Given the description of an element on the screen output the (x, y) to click on. 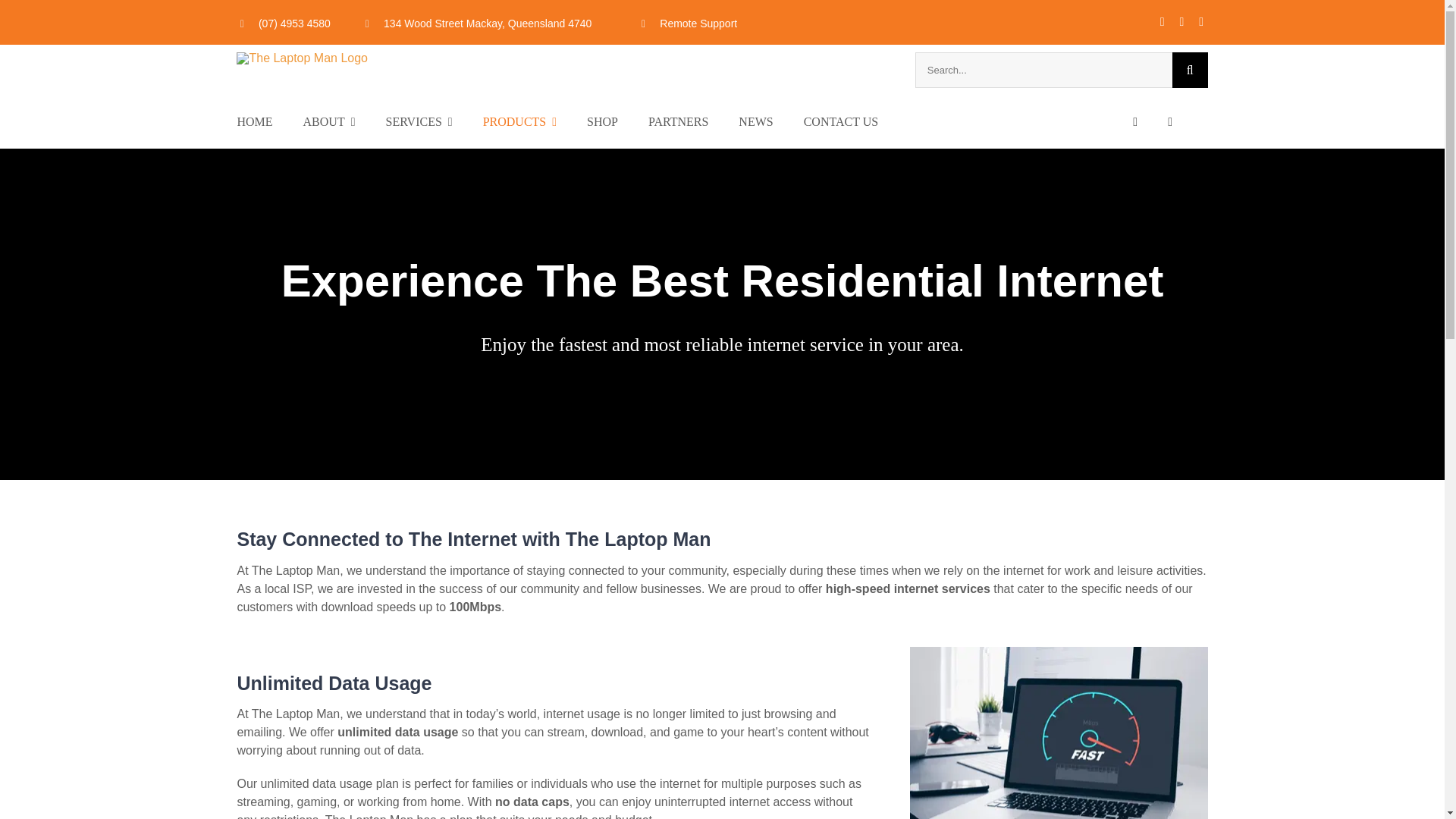
ABOUT (343, 122)
Remote Support (697, 23)
SERVICES (434, 122)
PRODUCTS (534, 122)
HOME (268, 122)
